Given the description of an element on the screen output the (x, y) to click on. 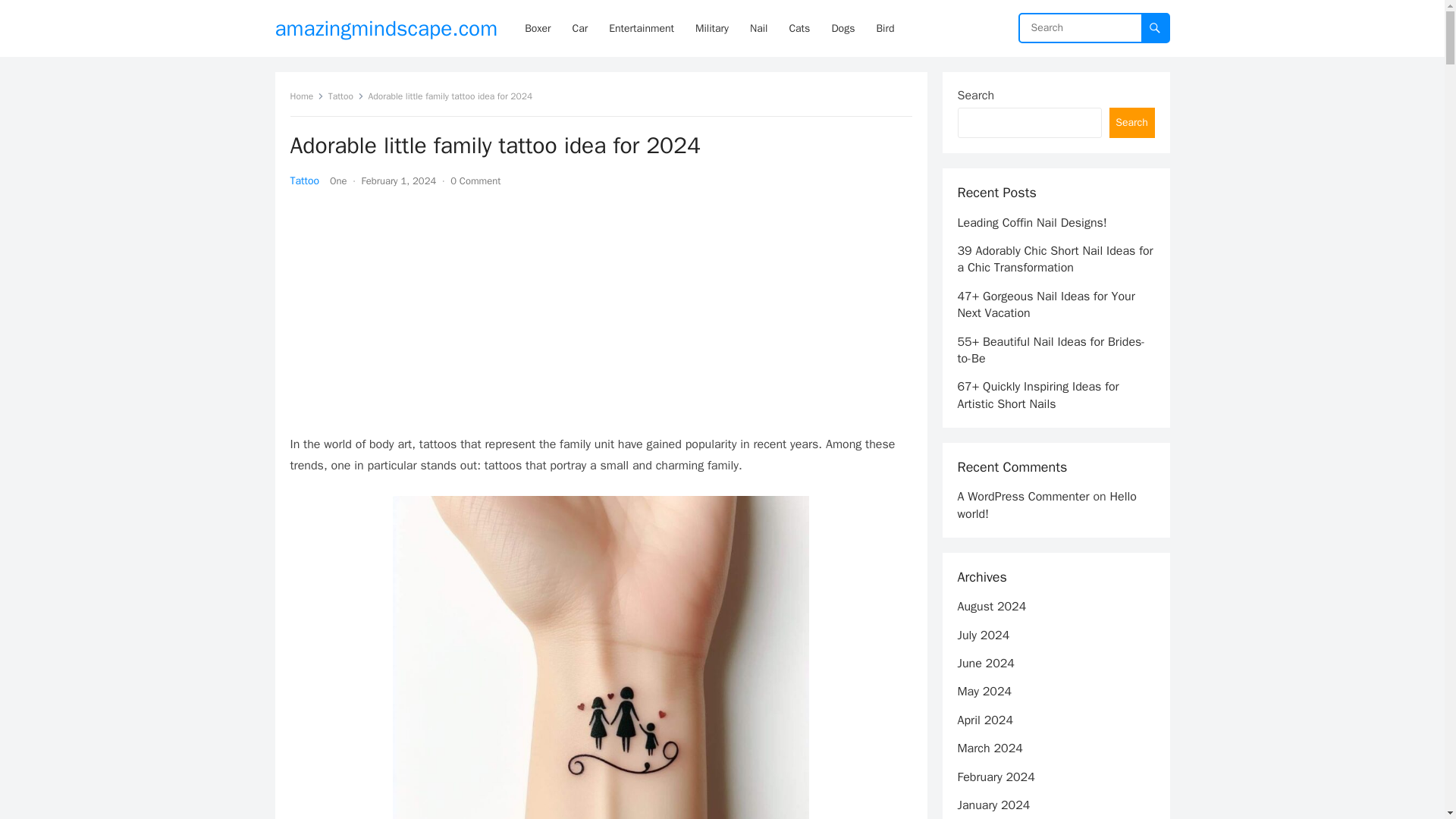
Military (711, 28)
Posts by One (338, 180)
One (338, 180)
Tattoo (303, 180)
Entertainment (640, 28)
Home (306, 96)
amazingmindscape.com (386, 28)
0 Comment (474, 180)
Tattoo (346, 96)
